Given the description of an element on the screen output the (x, y) to click on. 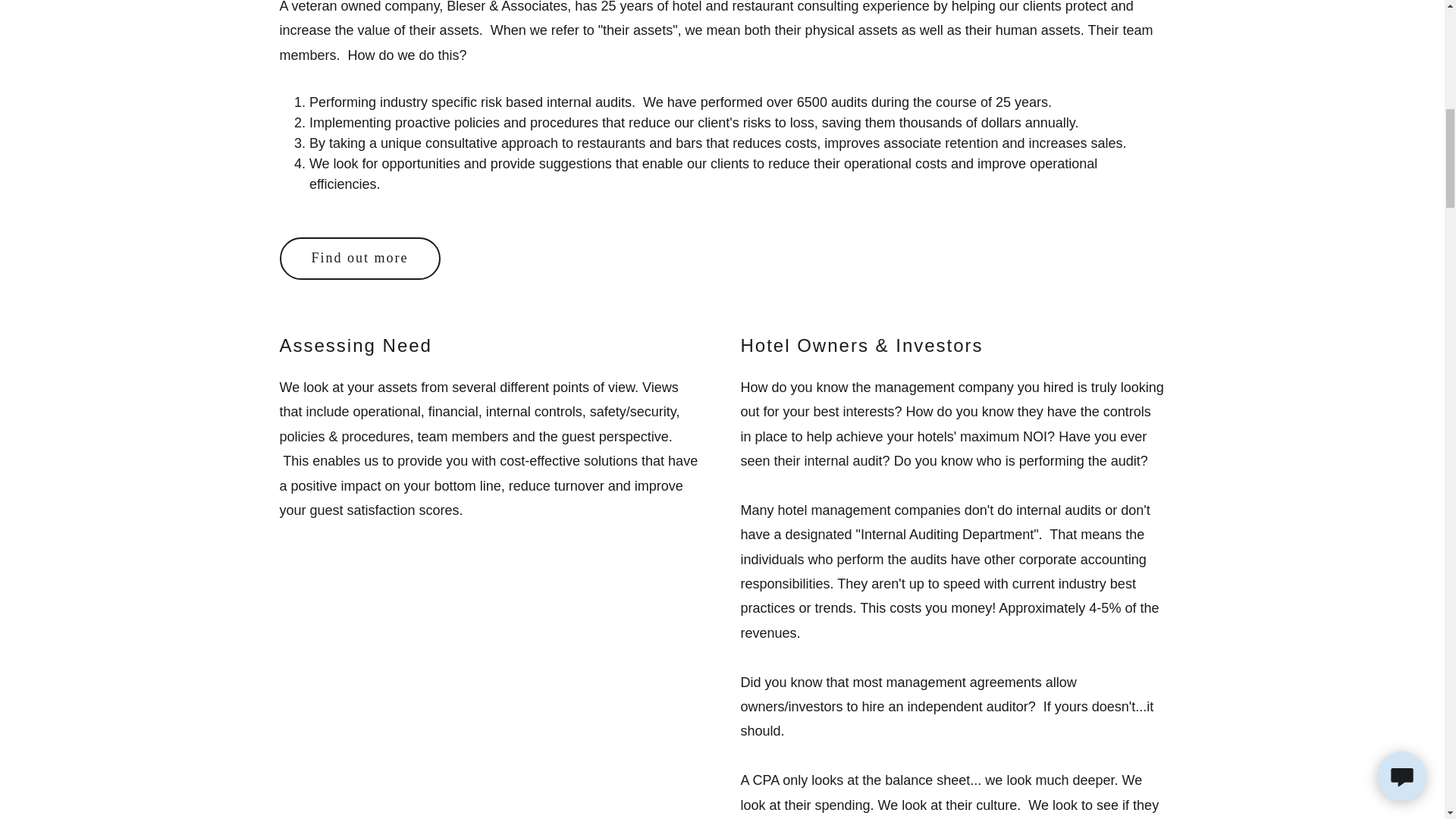
Find out more (359, 258)
